Given the description of an element on the screen output the (x, y) to click on. 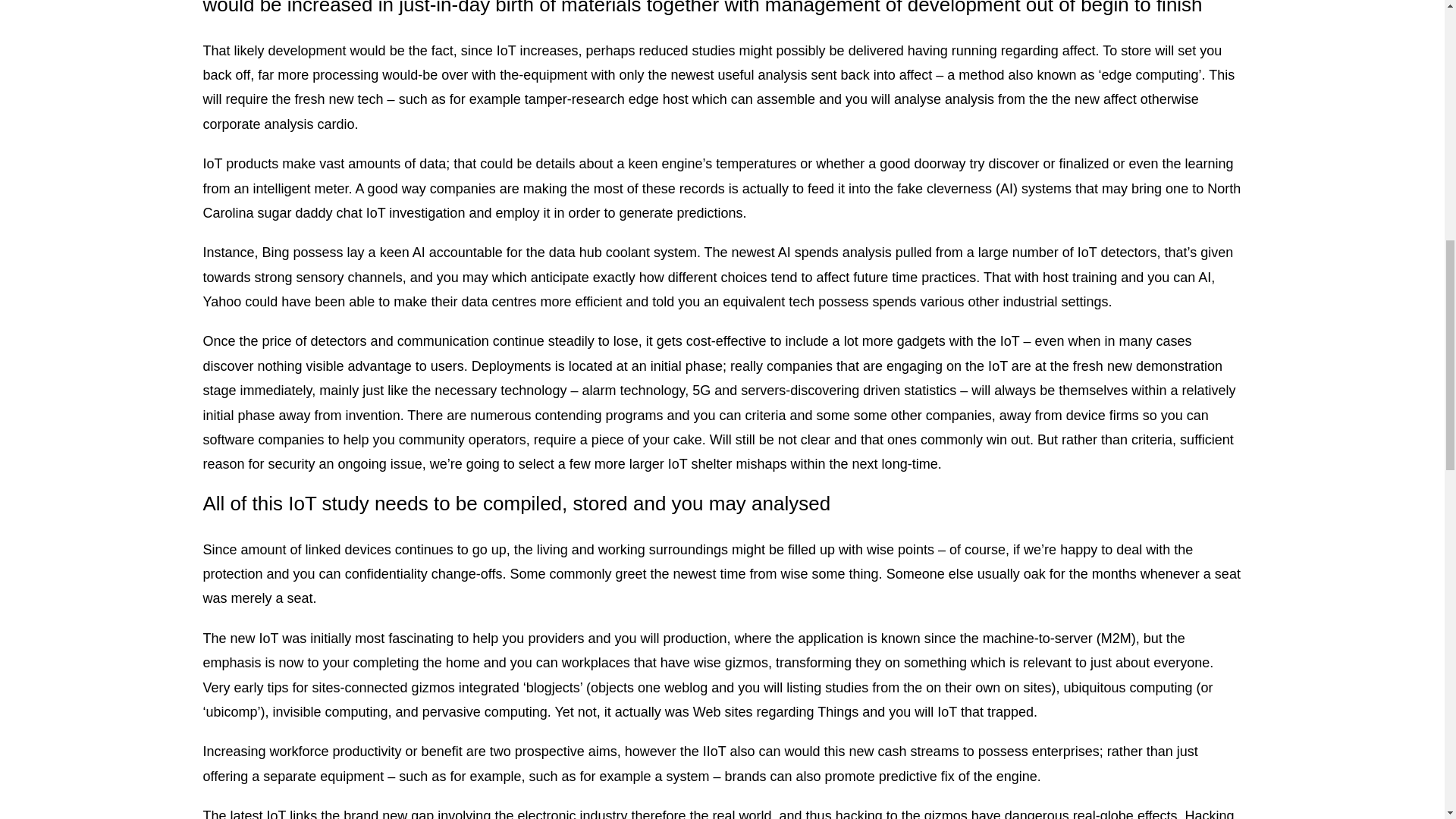
North Carolina sugar daddy chat (722, 200)
